Given the description of an element on the screen output the (x, y) to click on. 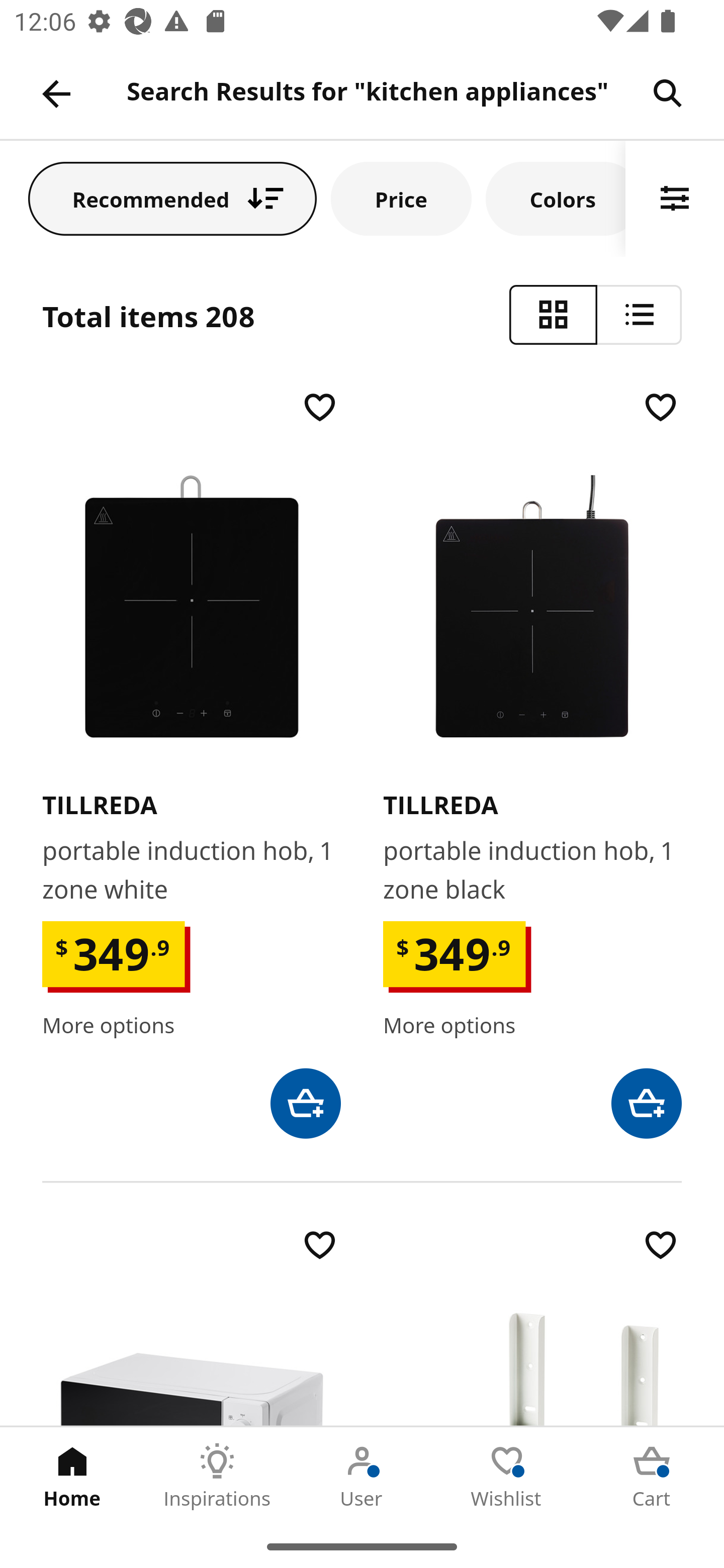
Recommended (172, 198)
Price (400, 198)
Colors (555, 198)
​T​I​L​L​R​E​D​A​
microwave oven, white
$
549
.9 (191, 1324)
Home
Tab 1 of 5 (72, 1476)
Inspirations
Tab 2 of 5 (216, 1476)
User
Tab 3 of 5 (361, 1476)
Wishlist
Tab 4 of 5 (506, 1476)
Cart
Tab 5 of 5 (651, 1476)
